Given the description of an element on the screen output the (x, y) to click on. 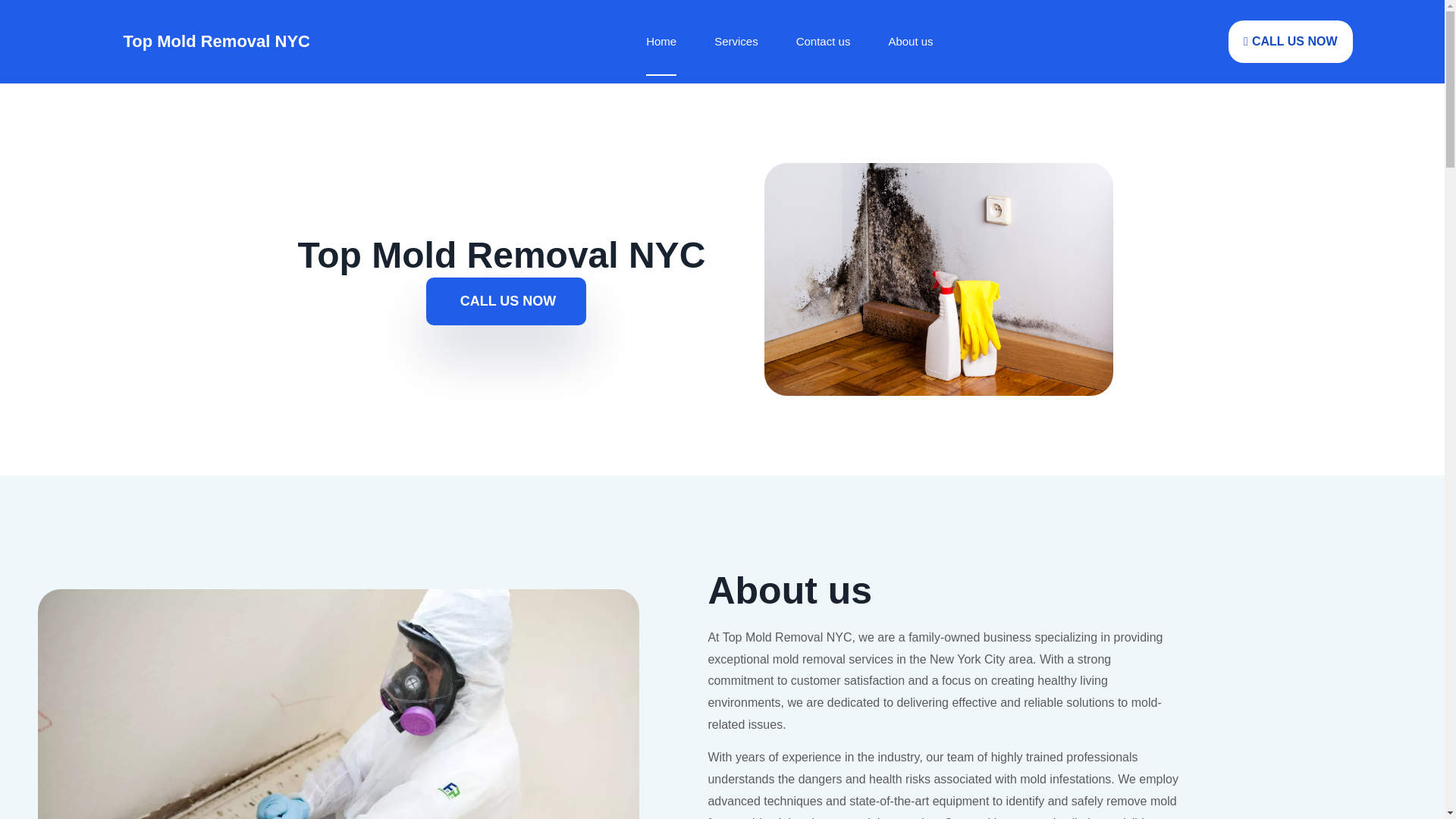
Top Mold Removal NYC (216, 40)
CALL US NOW (1290, 41)
CALL US NOW (506, 301)
